Given the description of an element on the screen output the (x, y) to click on. 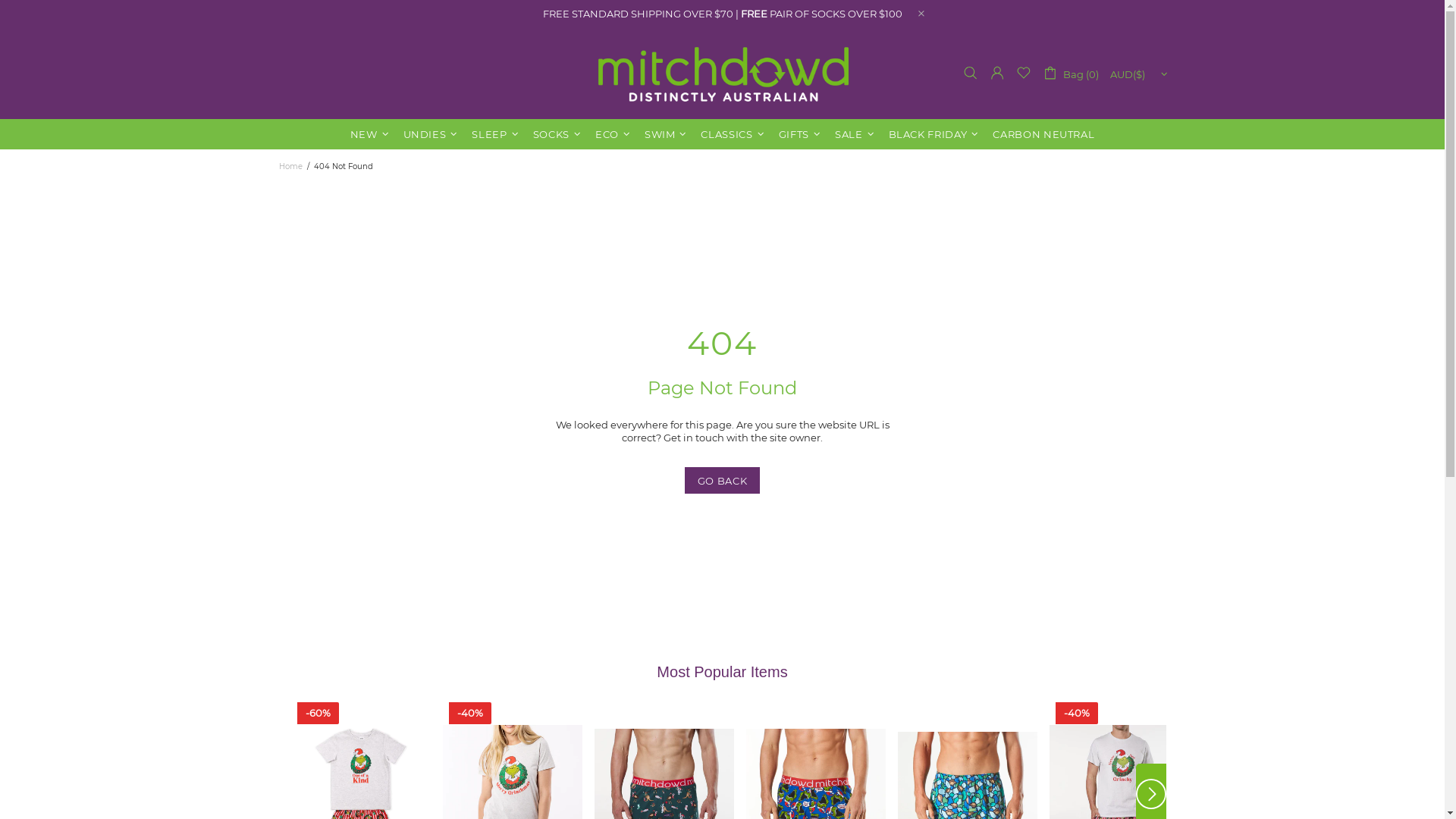
GIFTS Element type: text (801, 134)
UNDIES Element type: text (431, 134)
CLASSICS Element type: text (733, 134)
Home Element type: text (290, 166)
GO BACK Element type: text (722, 480)
NEW Element type: text (371, 134)
SWIM Element type: text (667, 134)
CARBON NEUTRAL Element type: text (1043, 134)
BLACK FRIDAY Element type: text (935, 134)
SOCKS Element type: text (558, 134)
ECO Element type: text (614, 134)
SALE Element type: text (856, 134)
SLEEP Element type: text (496, 134)
Bag (0) Element type: text (1069, 72)
Mitch Dowd Element type: text (722, 72)
